Given the description of an element on the screen output the (x, y) to click on. 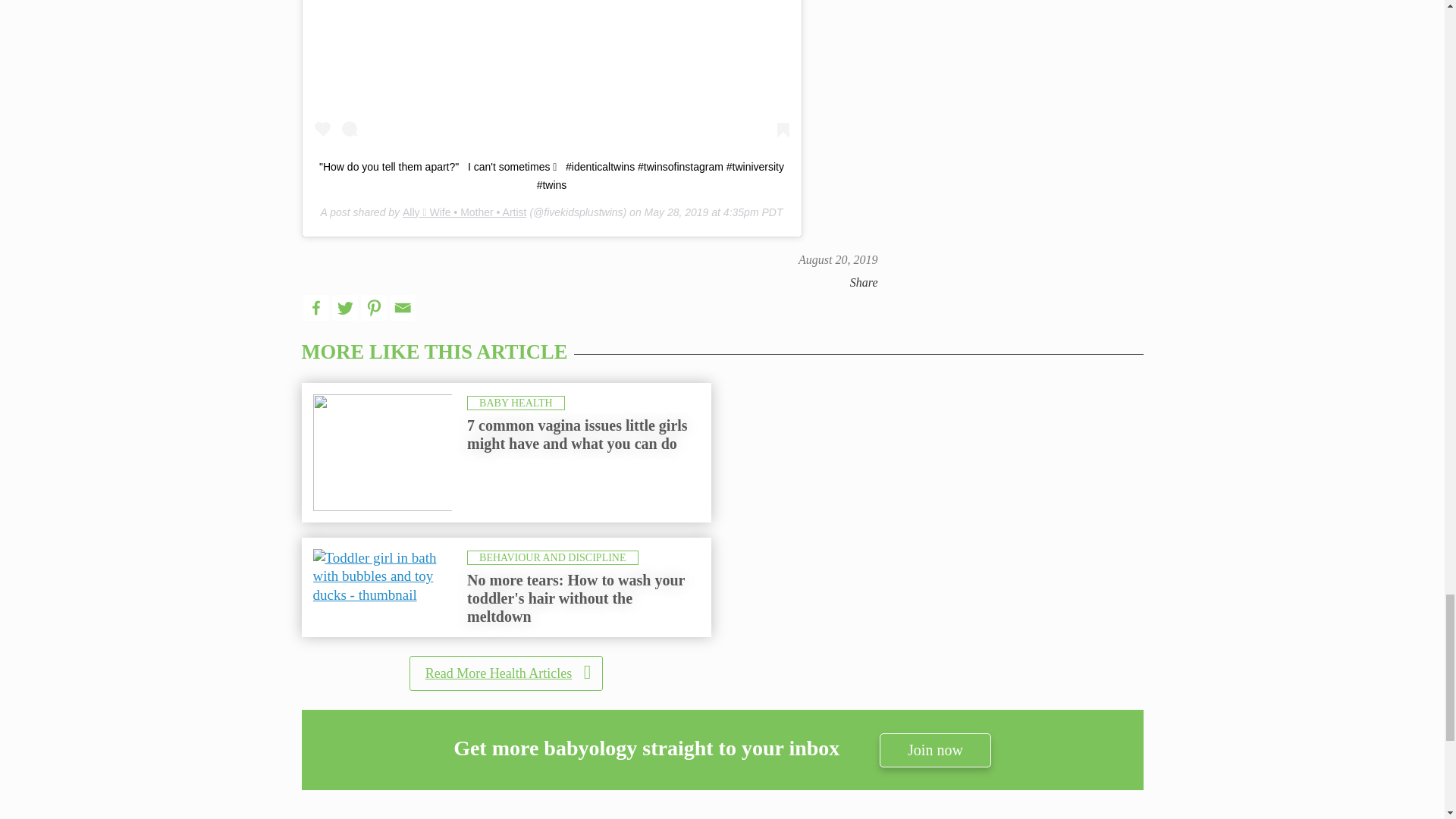
1:35 pm (837, 259)
Pinterest (374, 307)
Facebook (315, 307)
Twitter (344, 307)
